Given the description of an element on the screen output the (x, y) to click on. 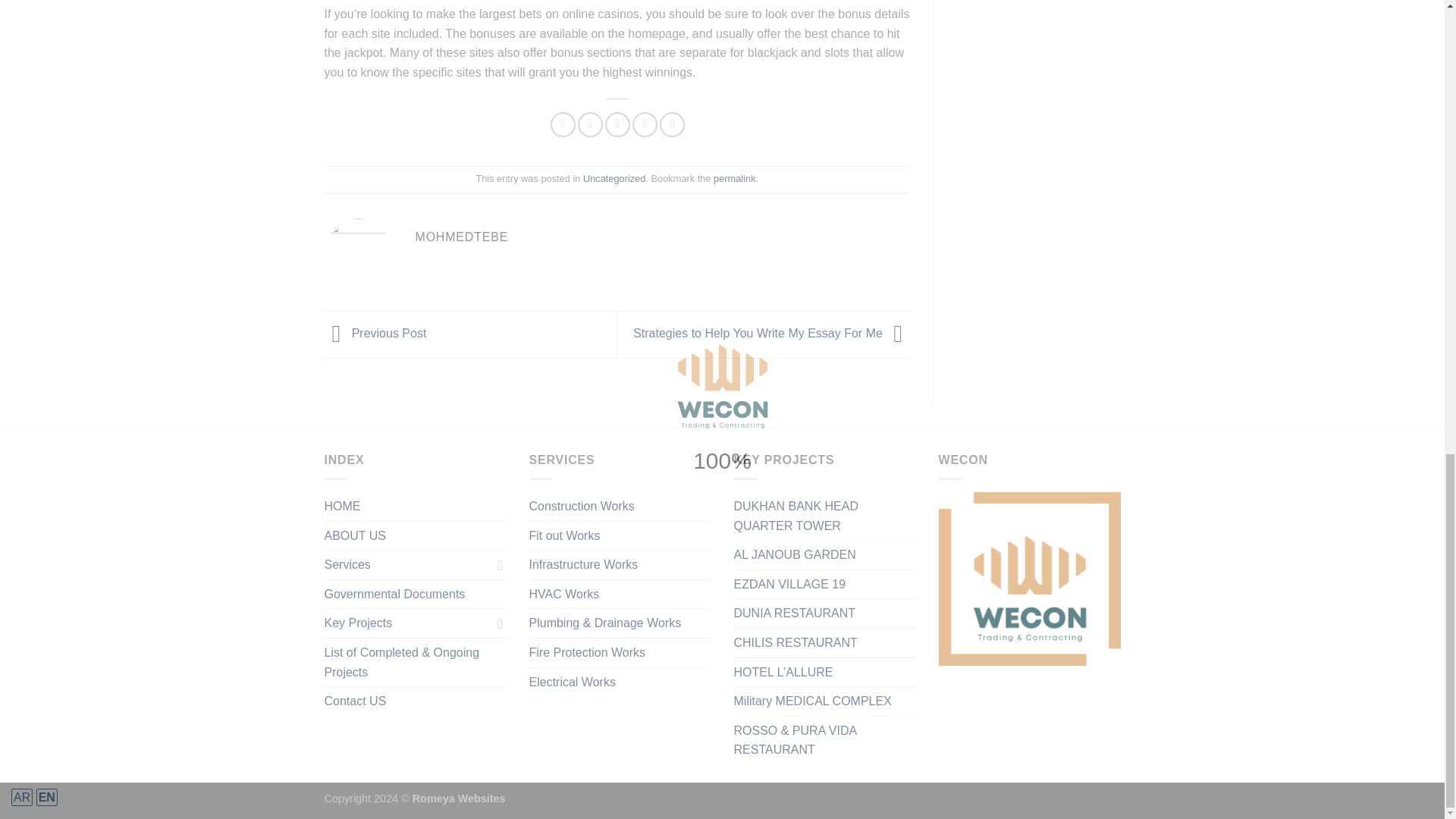
Services (407, 564)
Permalink to  (734, 178)
Email to a Friend (617, 124)
permalink (734, 178)
Strategies to Help You Write My Essay For Me (771, 333)
Uncategorized (614, 178)
Share on Twitter (590, 124)
Share on LinkedIn (671, 124)
ABOUT US (355, 535)
Previous Post (375, 333)
